Given the description of an element on the screen output the (x, y) to click on. 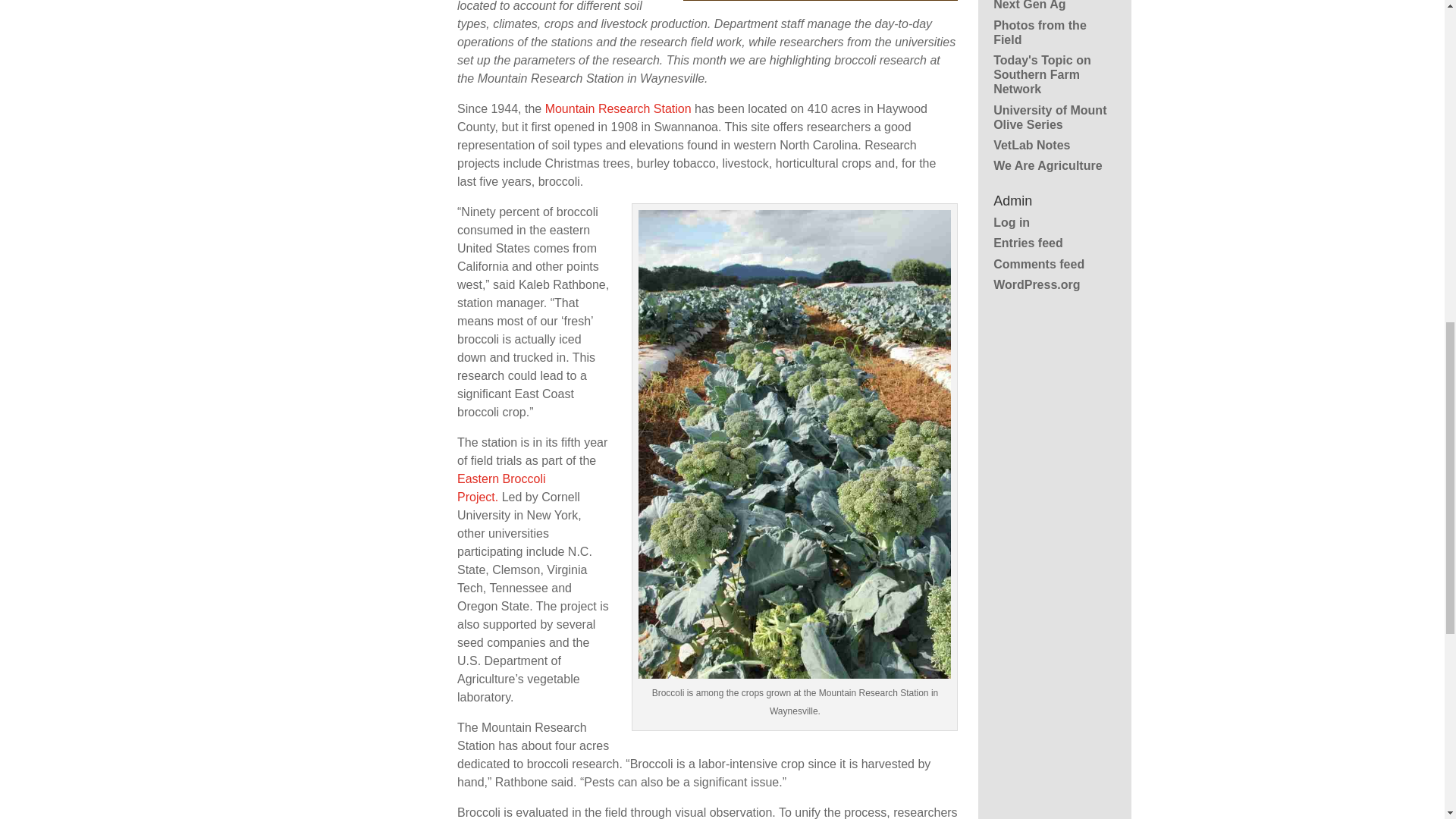
Eastern Broccoli Project. (501, 487)
Mountain Research Station (617, 108)
Next Gen Ag (1028, 5)
Photos from the Field (1039, 31)
